Given the description of an element on the screen output the (x, y) to click on. 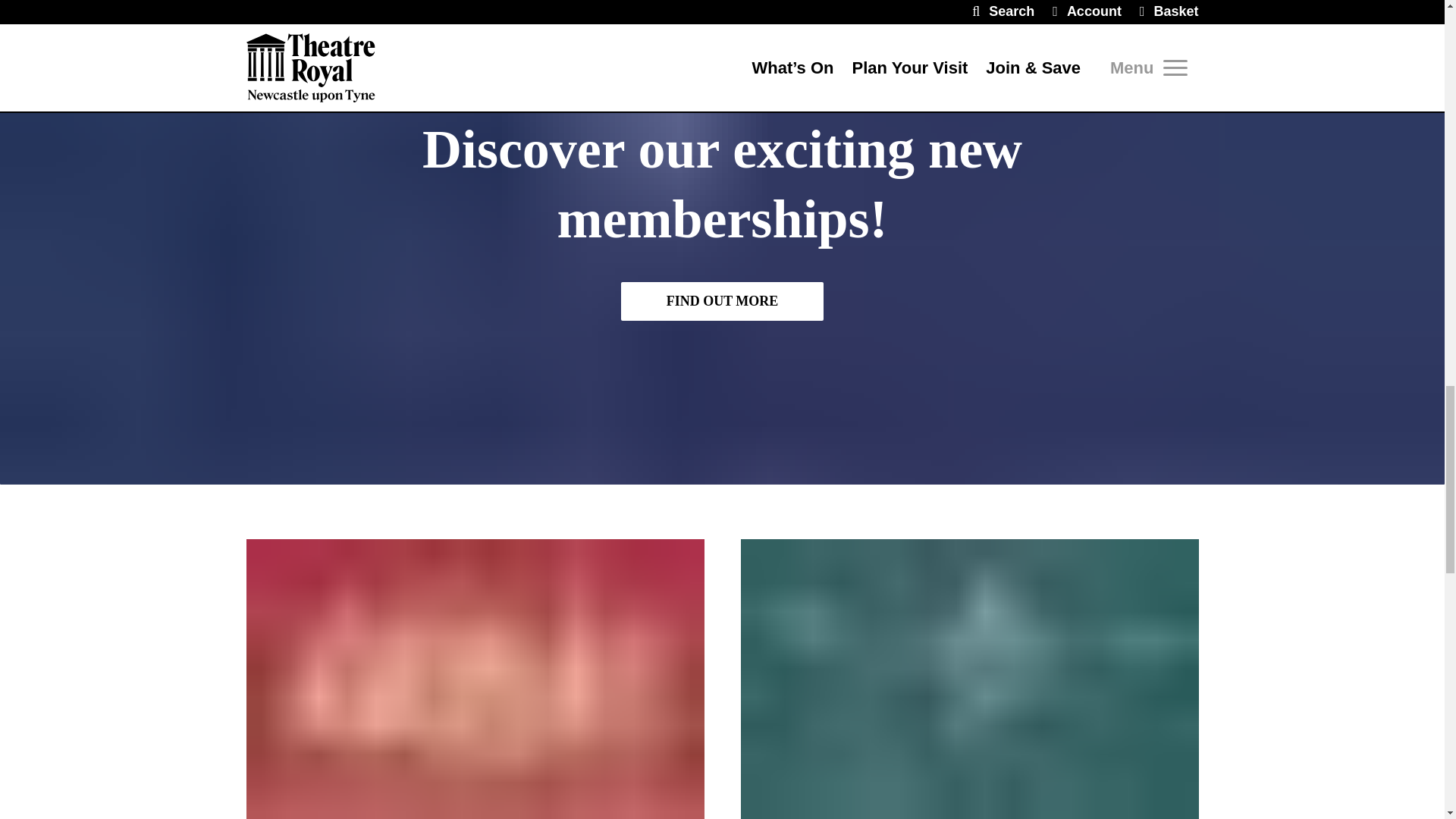
Newcastle Theatre Royal (968, 678)
Newcastle Theatre Royal (474, 678)
